Given the description of an element on the screen output the (x, y) to click on. 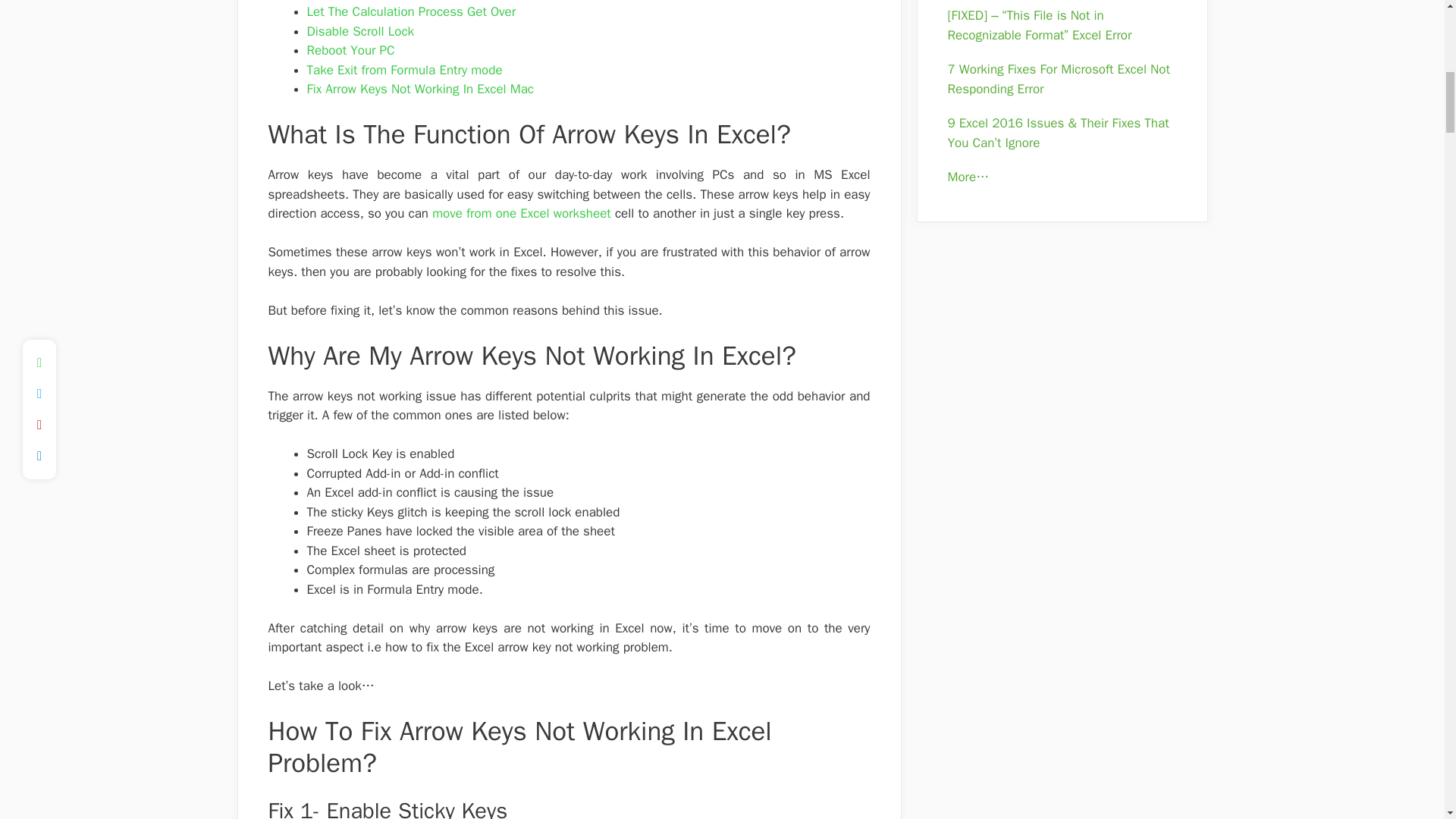
Let The Calculation Process Get Over (410, 11)
move from one Excel worksheet (521, 213)
Take Exit from Formula Entry mode (403, 69)
Reboot Your PC (349, 50)
Scroll back to top (1406, 720)
Disable Scroll Lock (359, 31)
Fix Arrow Keys Not Working In Excel Mac (419, 89)
